Given the description of an element on the screen output the (x, y) to click on. 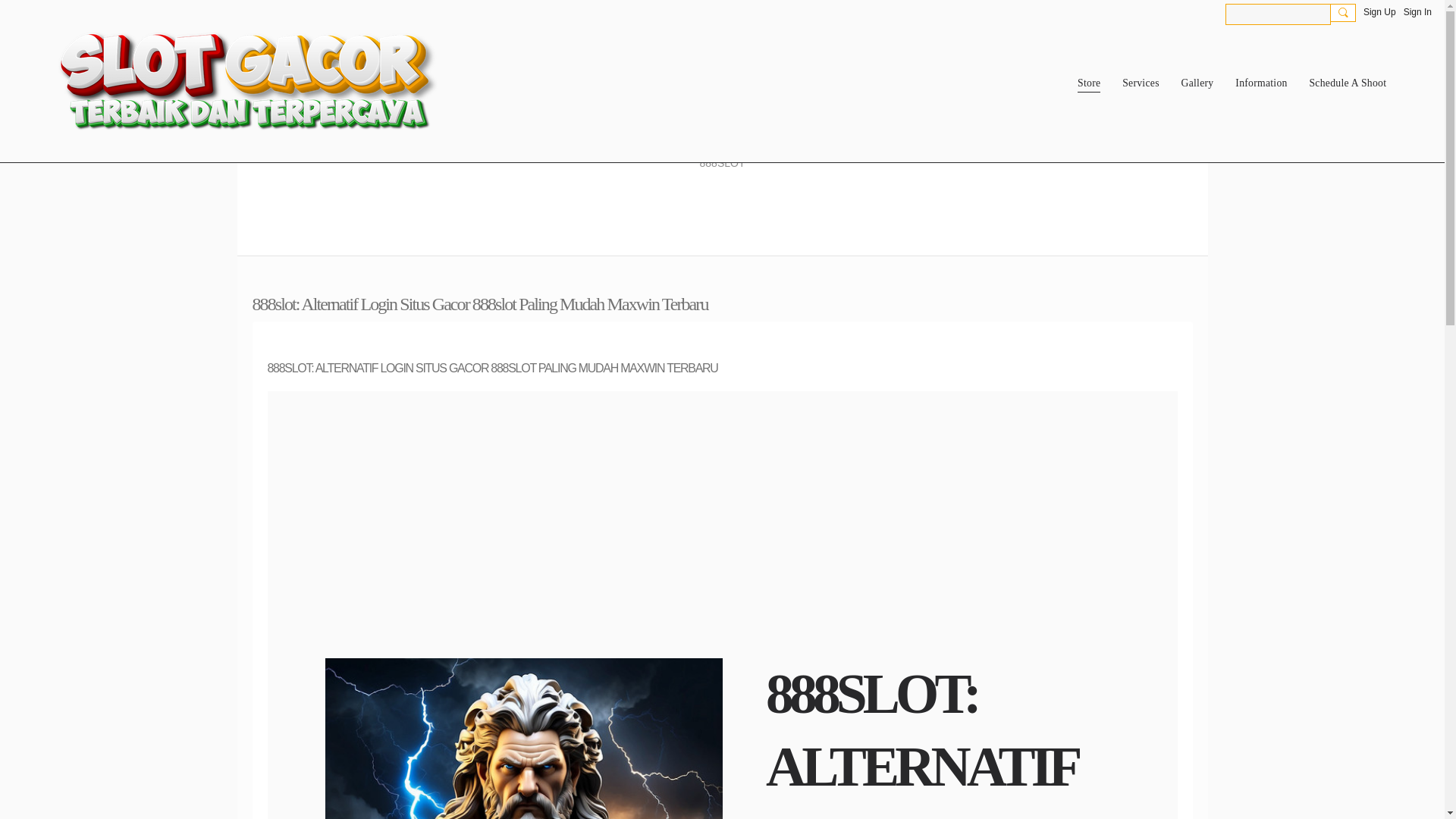
Store (1088, 82)
Information (1260, 82)
Sign Up (1379, 12)
888SLOT (722, 162)
Services (1140, 82)
Sign In (1417, 12)
NATIONALTHEATREWALES (722, 111)
Gallery (1197, 82)
Schedule A Shoot (1347, 82)
